Given the description of an element on the screen output the (x, y) to click on. 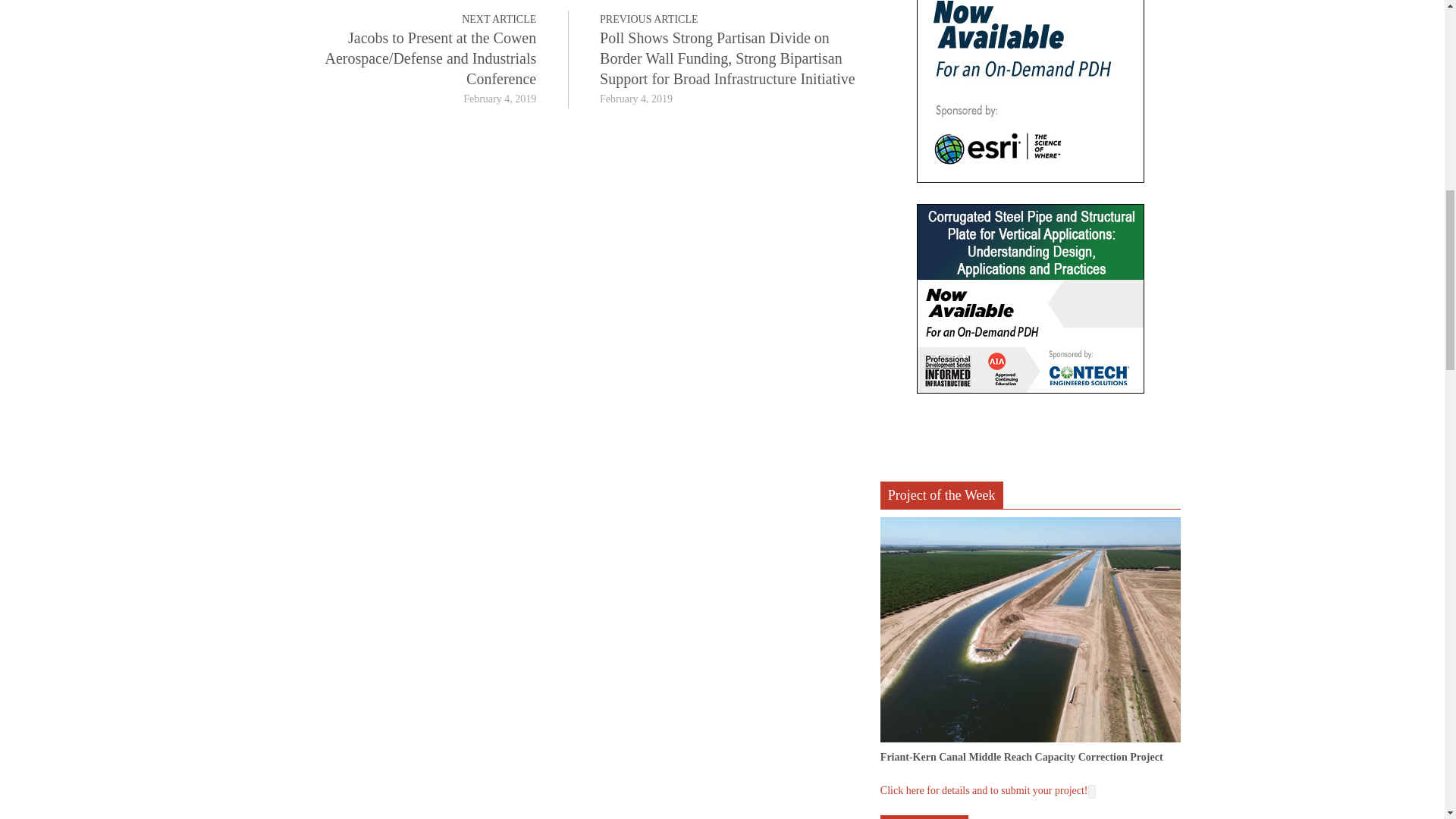
ESRI (1030, 91)
Contech PDH (1030, 298)
